Given the description of an element on the screen output the (x, y) to click on. 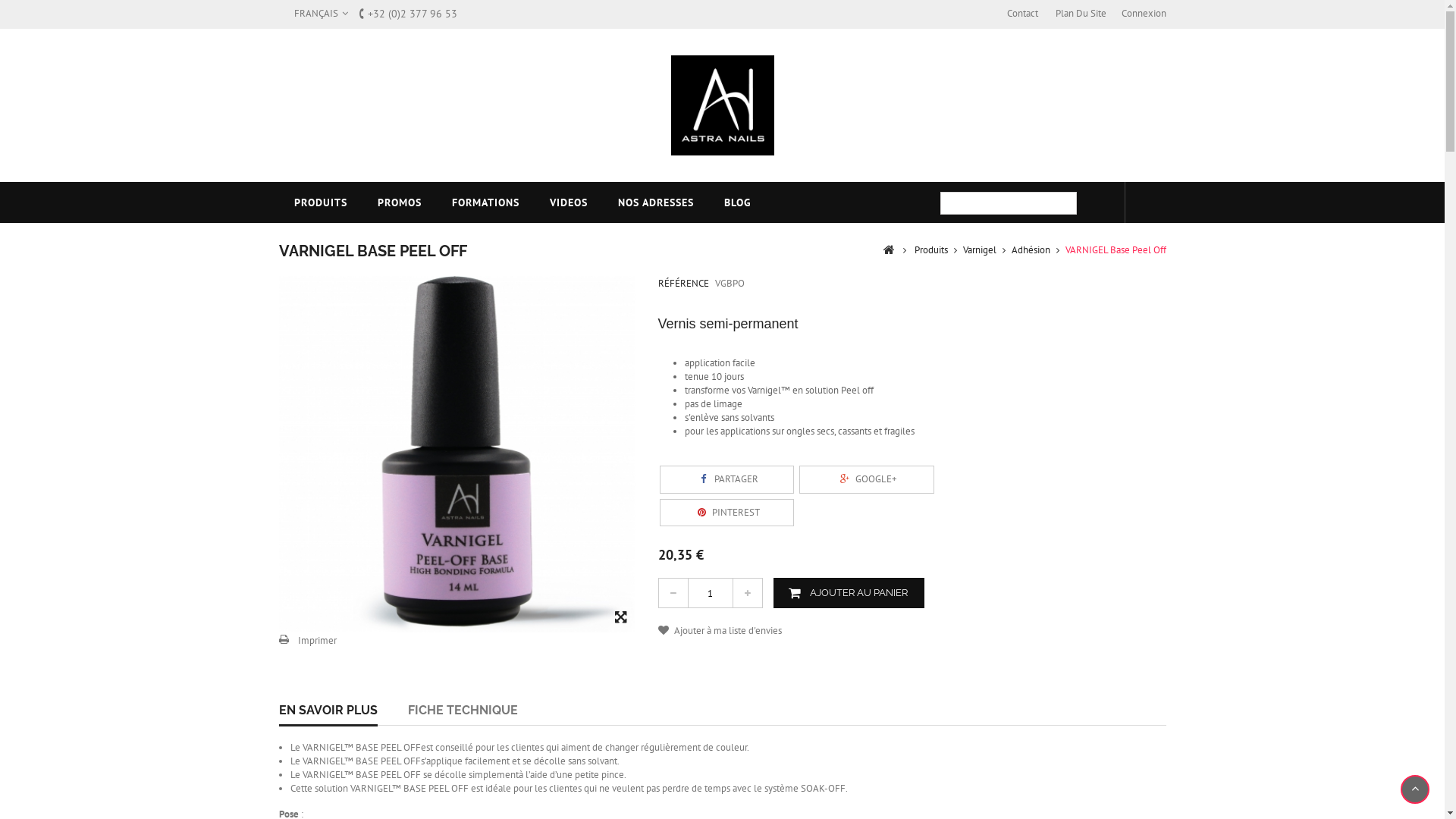
Connexion Element type: text (1142, 13)
BLOG Element type: text (736, 202)
Top Element type: hover (1414, 789)
EN SAVOIR PLUS Element type: text (328, 710)
VIDEOS Element type: text (567, 202)
GOOGLE+ Element type: text (866, 479)
AJOUTER AU PANIER Element type: text (848, 592)
PRODUITS Element type: text (320, 202)
FICHE TECHNIQUE Element type: text (462, 710)
VARNIGEL Base Peel Off Element type: hover (457, 454)
Panier (vide) Element type: text (1145, 202)
PARTAGER Element type: text (726, 479)
Plan Du Site Element type: text (1080, 12)
PROMOS Element type: text (399, 202)
Astra Nails Element type: hover (721, 105)
FORMATIONS Element type: text (485, 202)
Produits Element type: text (930, 250)
NOS ADRESSES Element type: text (655, 202)
Varnigel Element type: text (979, 250)
Imprimer Element type: text (307, 640)
PINTEREST Element type: text (726, 512)
Contact Element type: text (1022, 12)
